Given the description of an element on the screen output the (x, y) to click on. 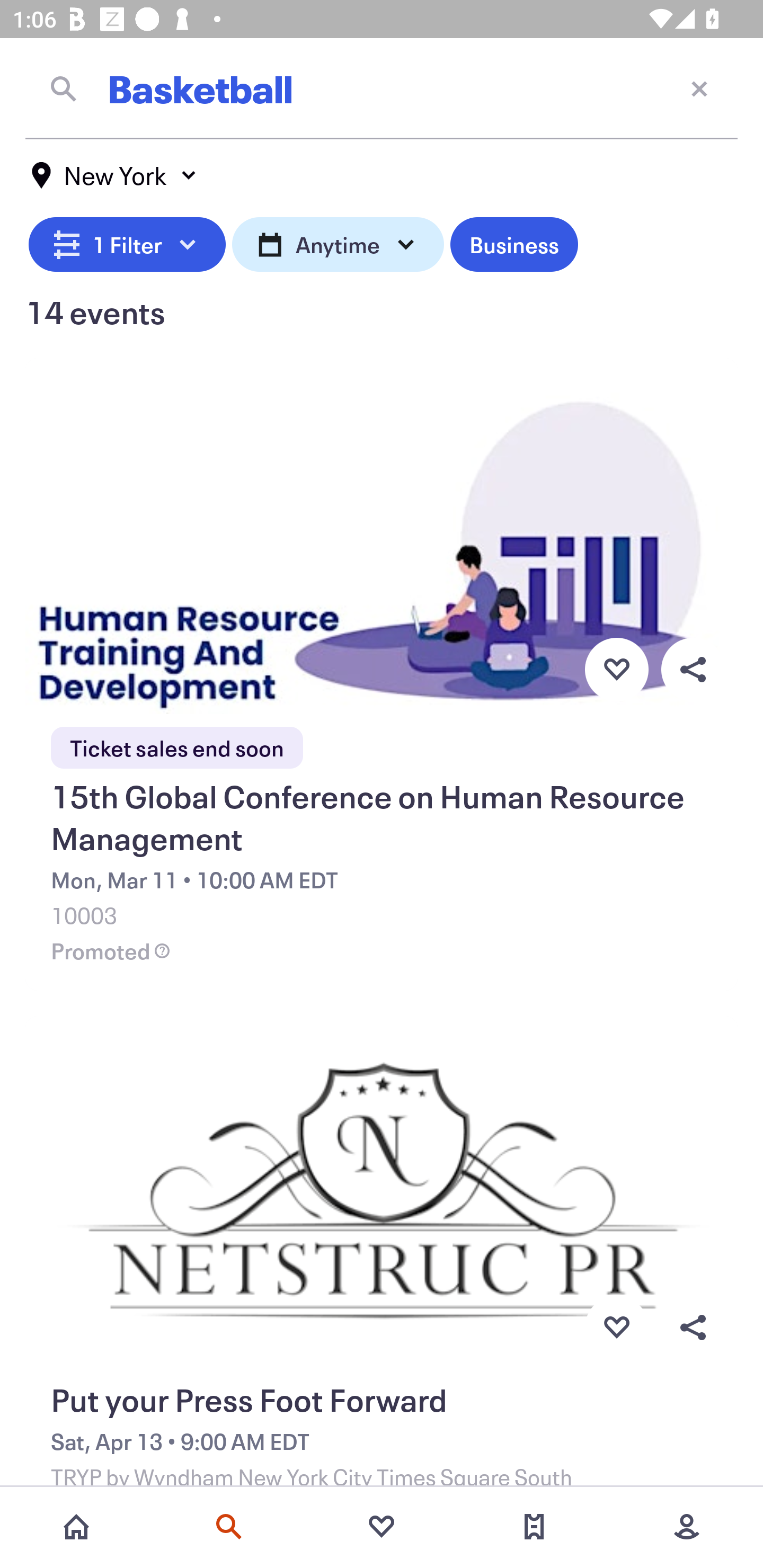
Basketball Close current screen (381, 88)
Close current screen (699, 88)
New York (114, 175)
1 Filter (126, 241)
Anytime (337, 241)
Business (514, 241)
Favorite button (616, 669)
Overflow menu button (692, 669)
Favorite button (616, 1326)
Overflow menu button (692, 1326)
Home (76, 1526)
Search events (228, 1526)
Favorites (381, 1526)
Tickets (533, 1526)
More (686, 1526)
